Given the description of an element on the screen output the (x, y) to click on. 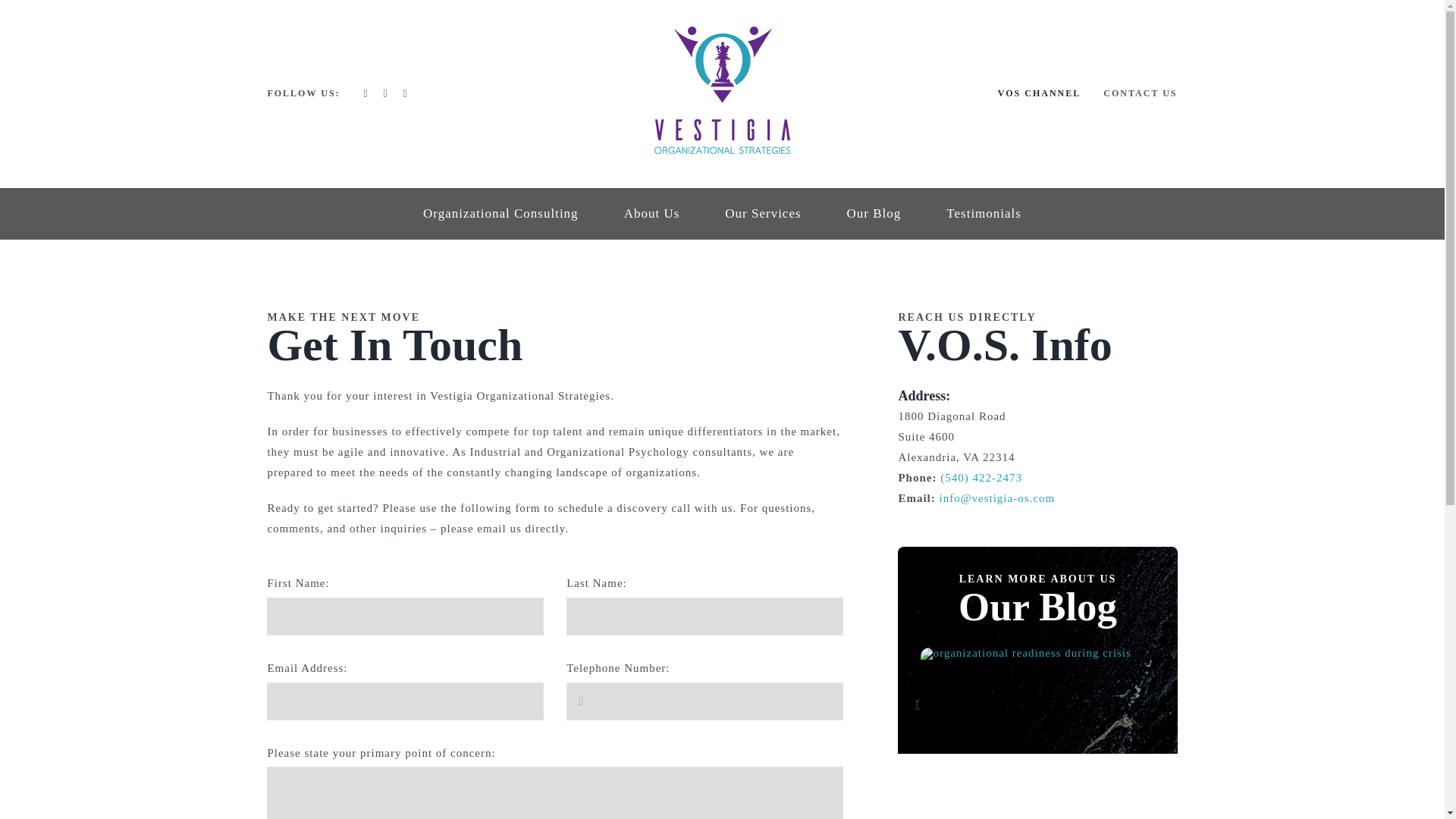
About Us (651, 213)
Our Blog (874, 213)
Testimonials (984, 213)
Vestigia Organizational Strategies Business Email Address (997, 498)
Only numbers and phone characters are accepted. (704, 701)
Organizational Consulting (500, 213)
Vestigia Organizational Strategies Business Phone Number (981, 477)
Our Services (762, 213)
CONTACT US (1139, 94)
VOS CHANNEL (1038, 94)
